Given the description of an element on the screen output the (x, y) to click on. 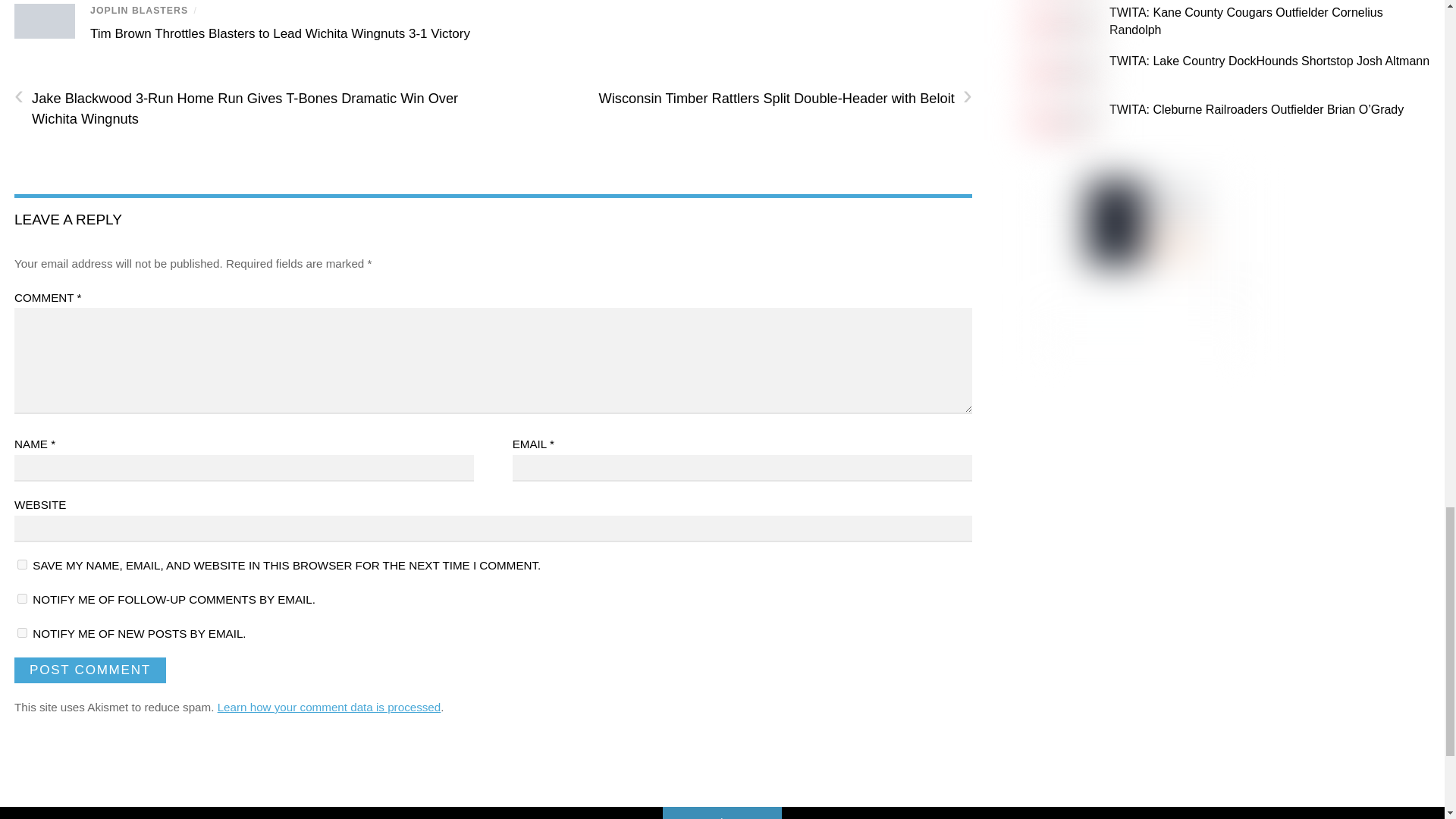
JOPLIN BLASTERS (138, 9)
Wichita Wingnuts Logo 2 (44, 21)
subscribe (22, 598)
Learn how your comment data is processed (328, 707)
yes (22, 564)
Post Comment (89, 670)
subscribe (22, 633)
Post Comment (89, 670)
